Given the description of an element on the screen output the (x, y) to click on. 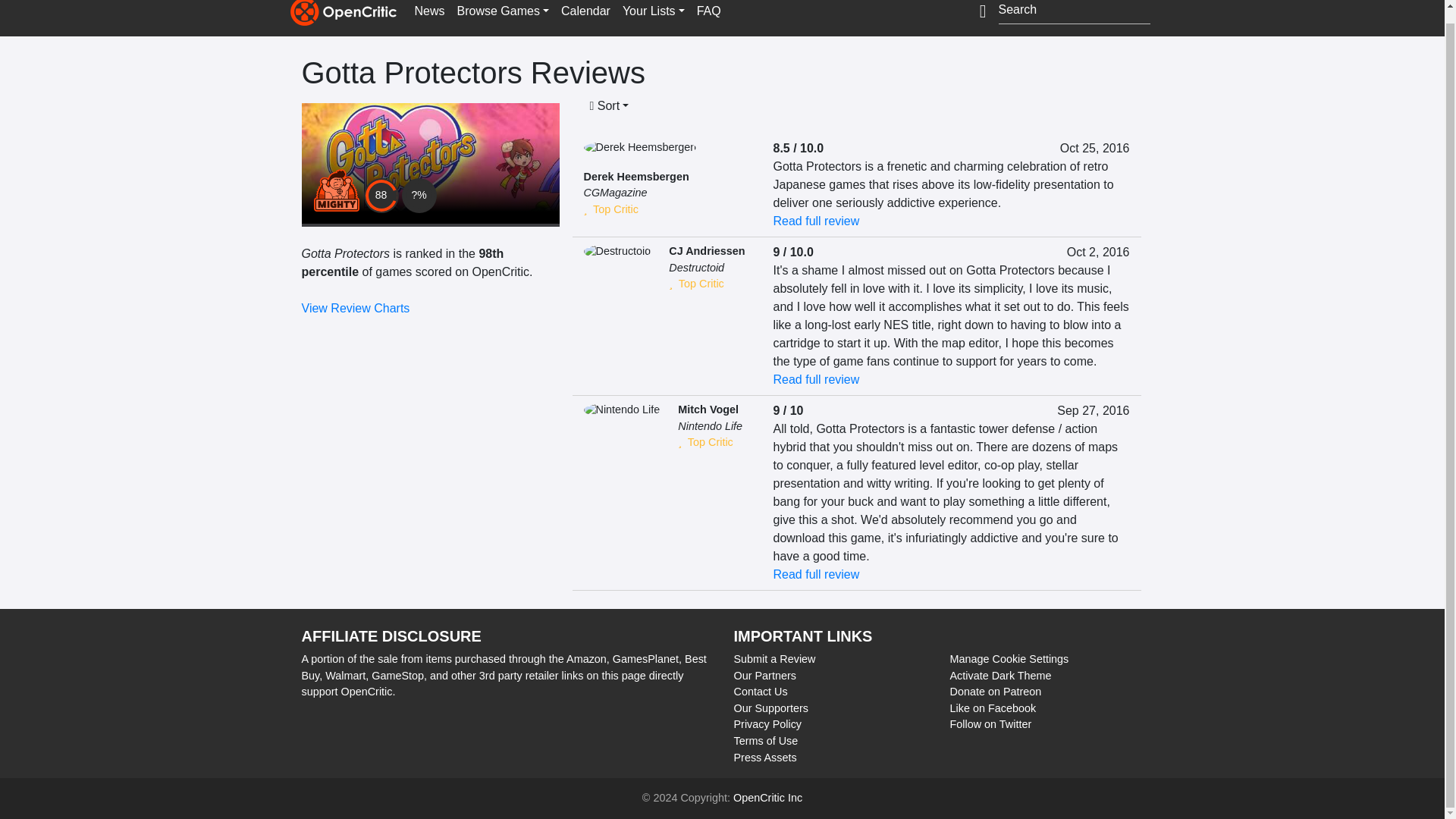
Nintendo Life (710, 426)
Derek Heemsbergen (635, 176)
Your Lists (652, 13)
View Review Charts (355, 308)
FAQ (708, 13)
Read full review (816, 220)
CJ Andriessen (706, 250)
Destructoid (695, 267)
Browse Games (502, 13)
News (428, 13)
Calendar (584, 13)
CGMagazine (615, 192)
Read full review (816, 379)
Mitch Vogel (708, 409)
